Given the description of an element on the screen output the (x, y) to click on. 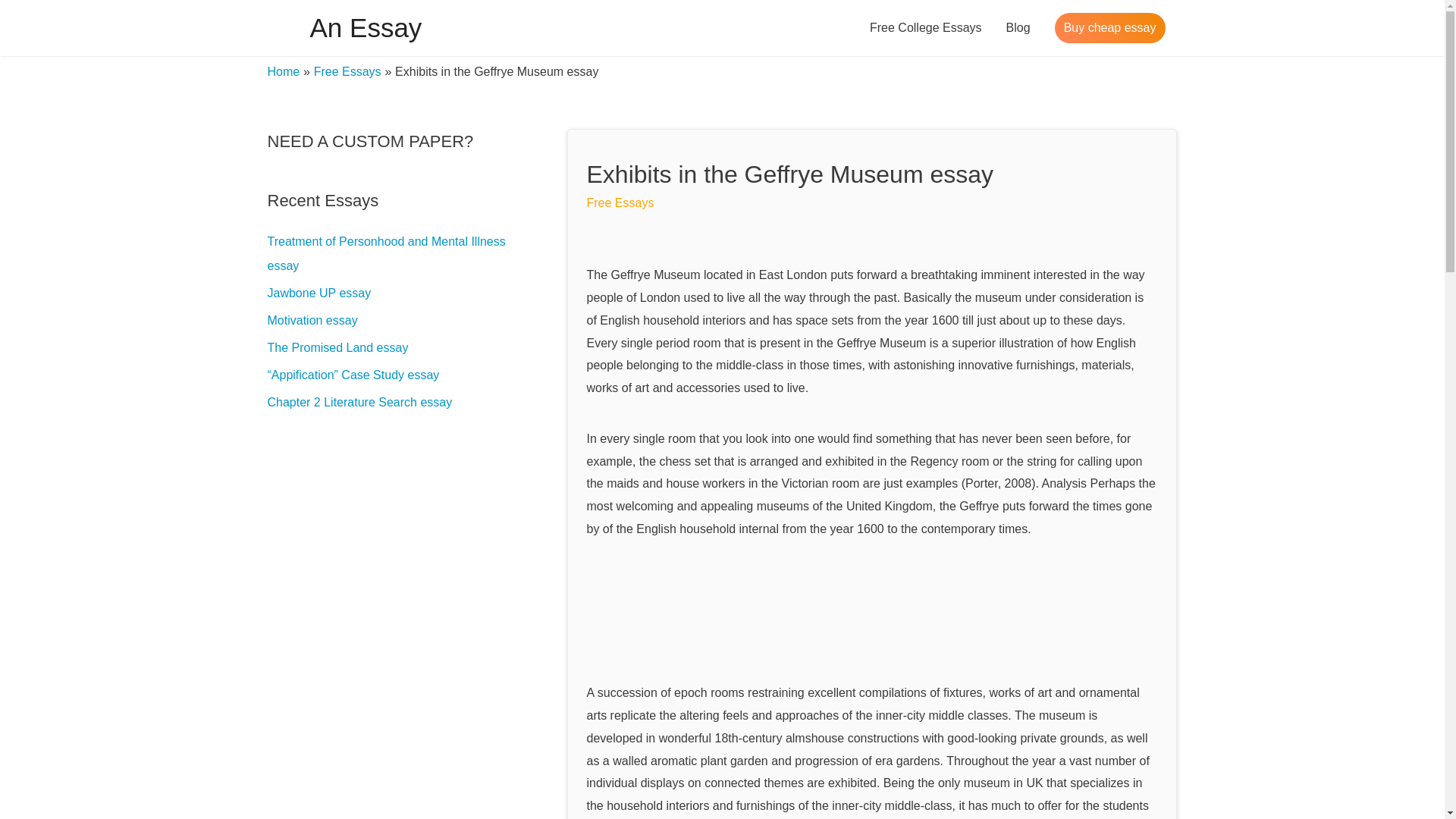
Treatment of Personhood and Mental Illness essay (385, 253)
Chapter 2 Literature Search essay (358, 401)
Free College Essays (925, 28)
The Promised Land essay (336, 347)
Blog (1018, 28)
Free Essays (347, 71)
Free Essays (619, 202)
Motivation essay (311, 319)
Buy cheap essay (1109, 28)
Jawbone UP essay (318, 292)
